Given the description of an element on the screen output the (x, y) to click on. 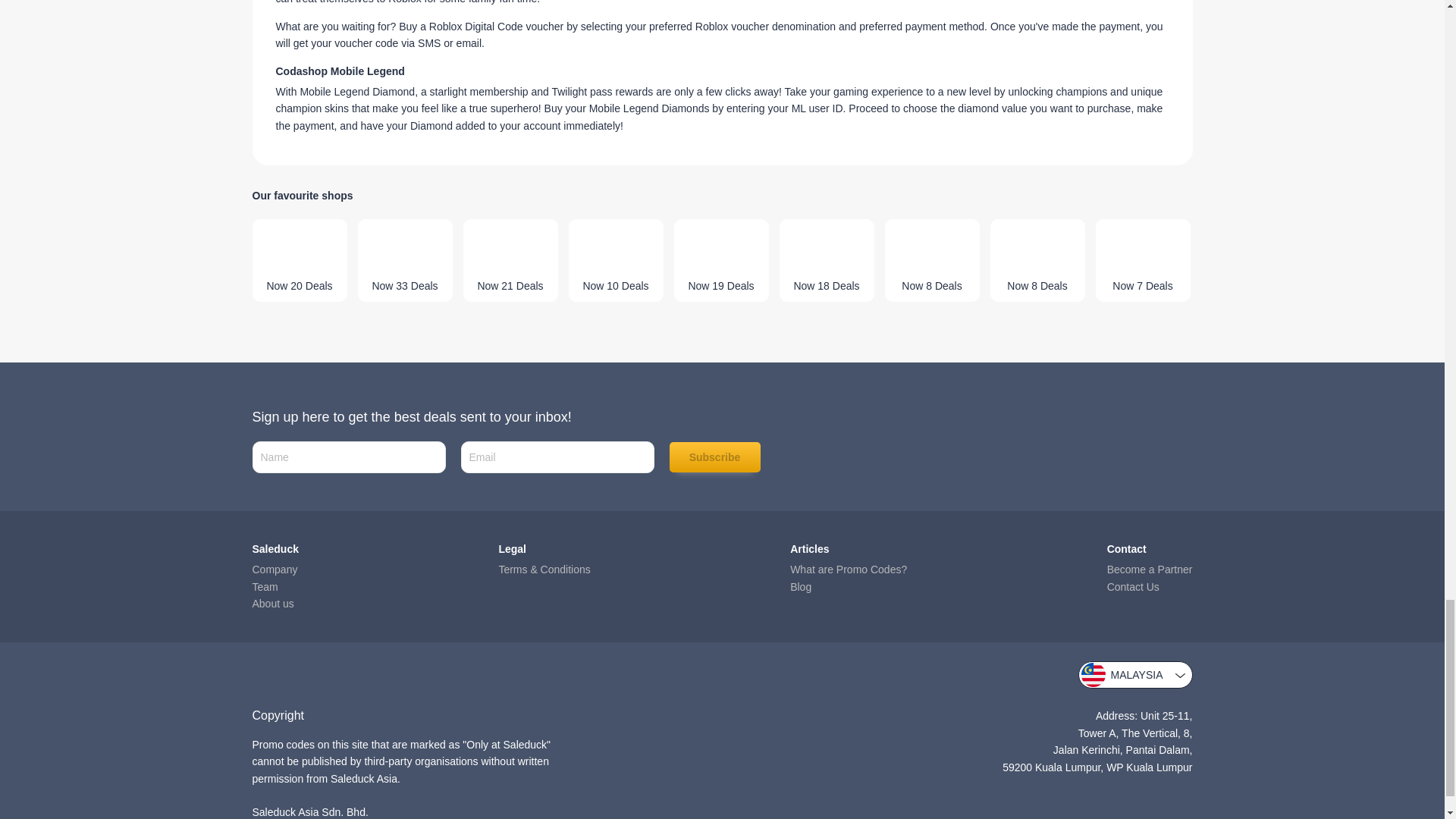
Now 21 Deals (510, 260)
Now 20 Deals (298, 260)
Now 8 Deals (930, 260)
Now 7 Deals (1141, 260)
Company (274, 569)
Subscribe (714, 457)
Now 19 Deals (720, 260)
Now 33 Deals (405, 260)
Now 10 Deals (616, 260)
Now 8 Deals (1037, 260)
